Given the description of an element on the screen output the (x, y) to click on. 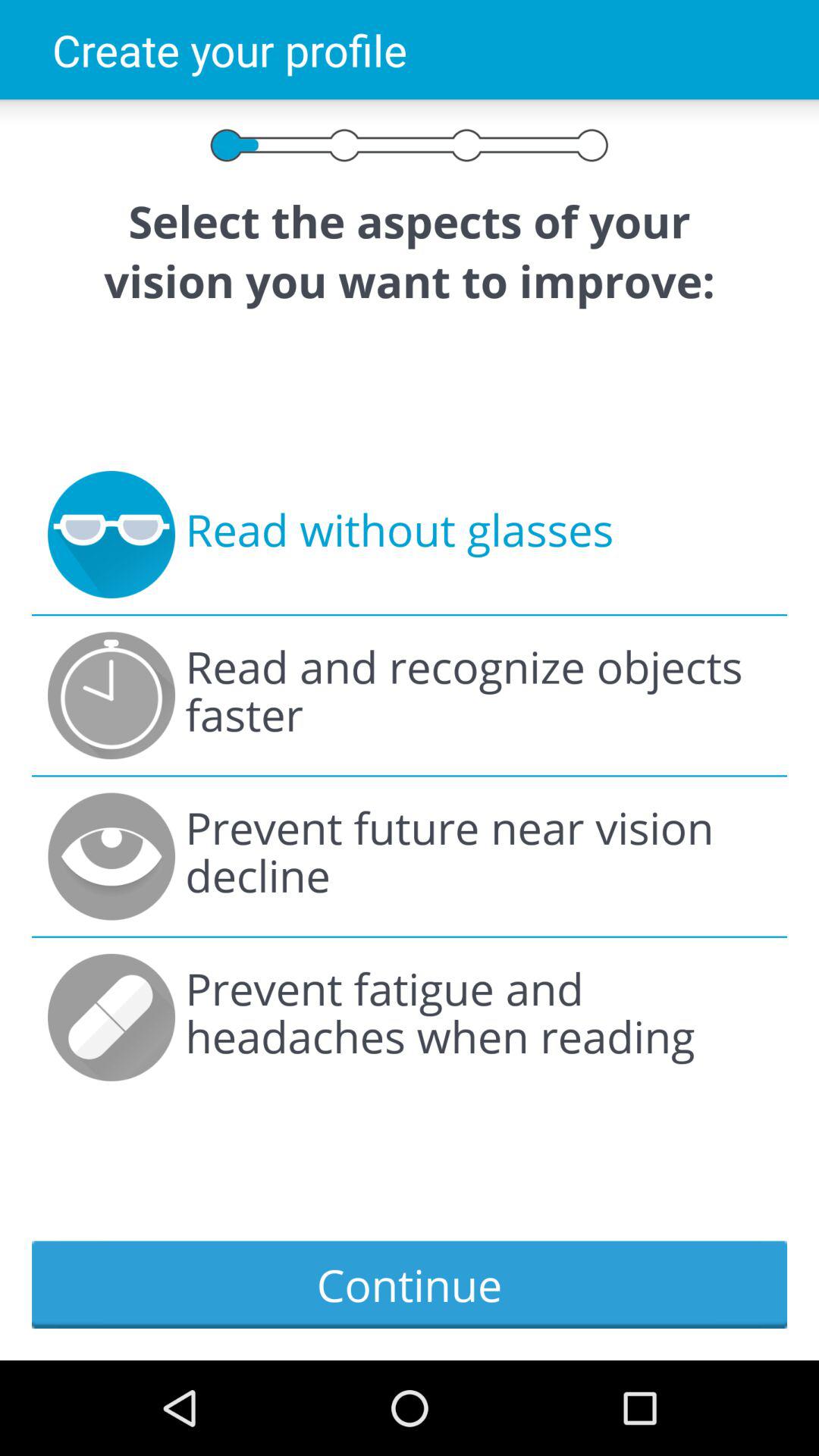
press the item below the prevent future near item (478, 1017)
